Given the description of an element on the screen output the (x, y) to click on. 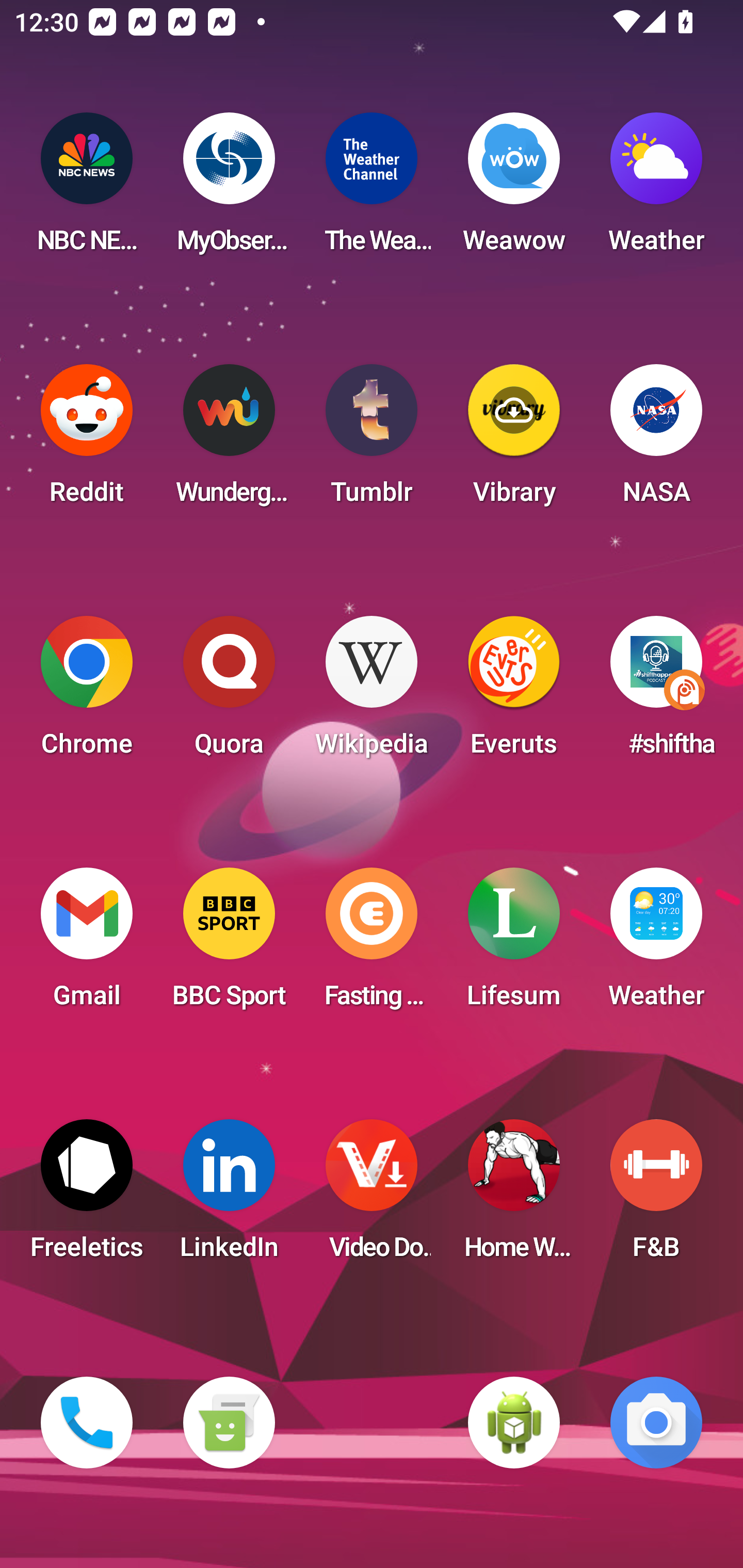
NBC NEWS (86, 188)
MyObservatory (228, 188)
The Weather Channel (371, 188)
Weawow (513, 188)
Weather (656, 188)
Reddit (86, 440)
Wunderground (228, 440)
Tumblr (371, 440)
Vibrary (513, 440)
NASA (656, 440)
Chrome (86, 692)
Quora (228, 692)
Wikipedia (371, 692)
Everuts (513, 692)
#shifthappens in the Digital Workplace Podcast (656, 692)
Gmail (86, 943)
BBC Sport (228, 943)
Fasting Coach (371, 943)
Lifesum (513, 943)
Weather (656, 943)
Freeletics (86, 1195)
LinkedIn (228, 1195)
Video Downloader & Ace Player (371, 1195)
Home Workout (513, 1195)
F&B (656, 1195)
Phone (86, 1422)
Messaging (228, 1422)
WebView Browser Tester (513, 1422)
Camera (656, 1422)
